Given the description of an element on the screen output the (x, y) to click on. 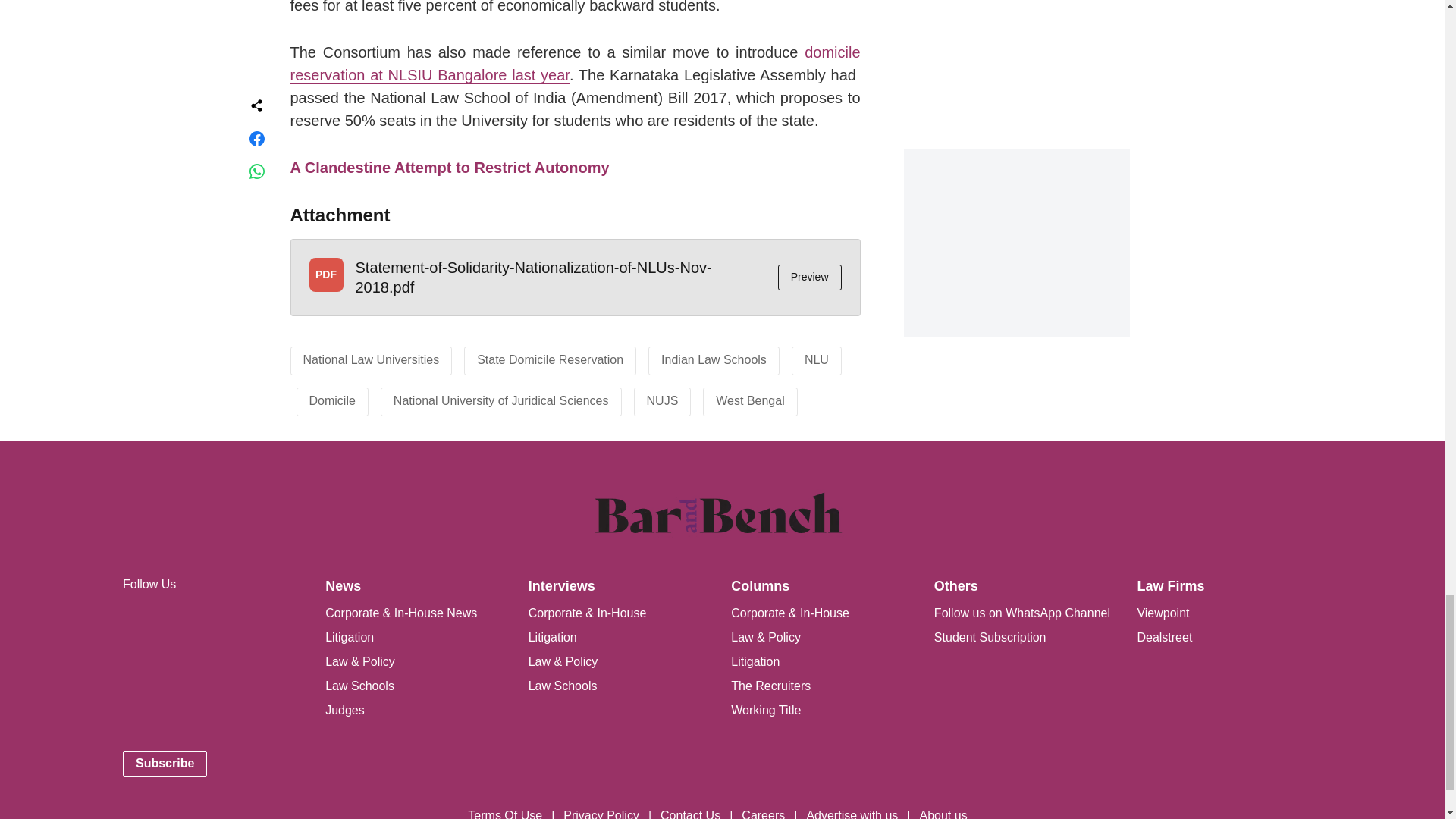
Indian Law Schools (714, 359)
Preview (809, 277)
Domicile (331, 400)
West Bengal (750, 400)
National University of Juridical Sciences (500, 400)
National Law Universities (370, 359)
NLU (816, 359)
domicile reservation at NLSIU Bangalore last year (574, 64)
NUJS (662, 400)
State Domicile Reservation (550, 359)
